Given the description of an element on the screen output the (x, y) to click on. 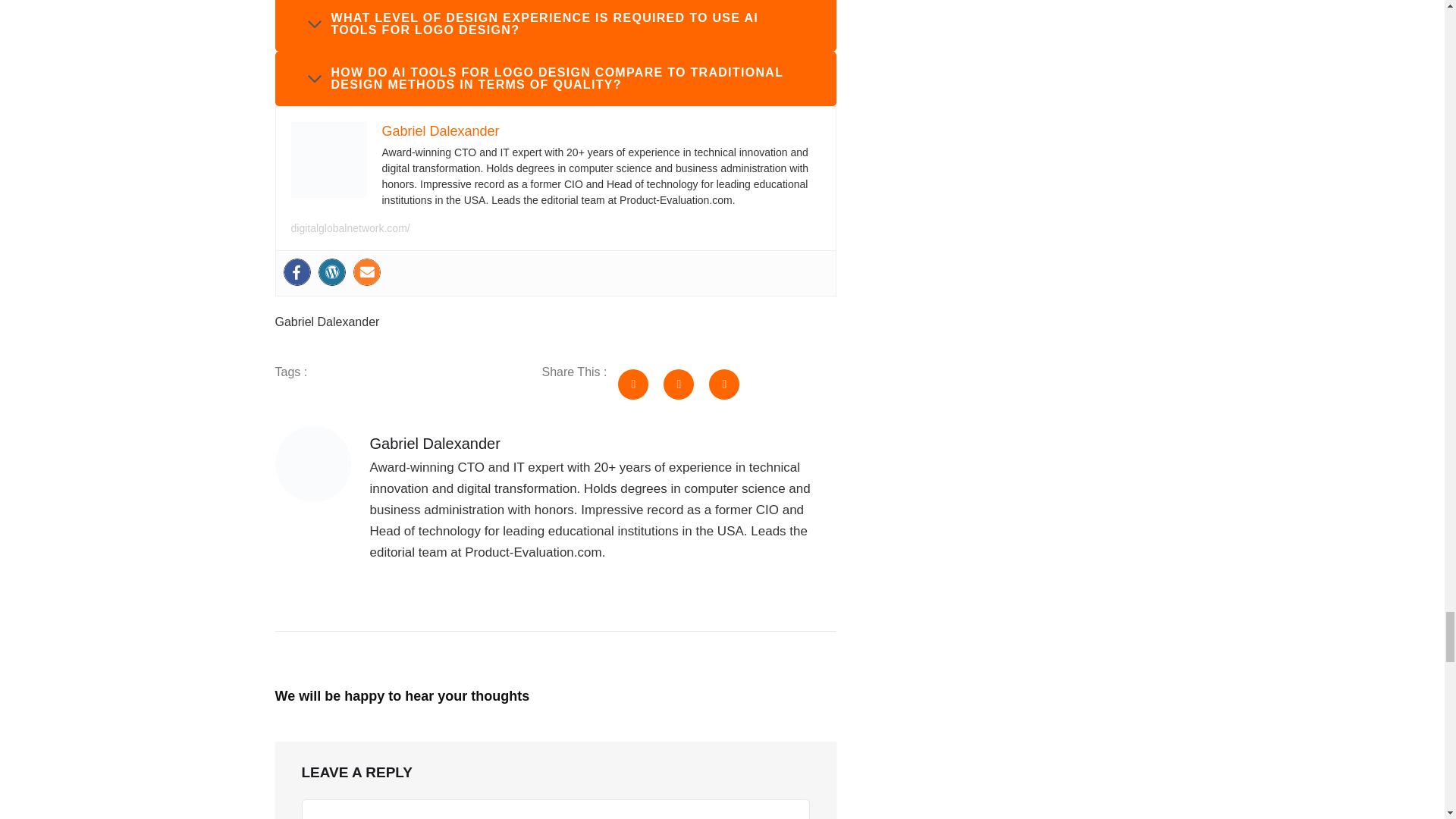
Facebook (297, 271)
Best Ai Tools For Image Generation (328, 160)
Wordpress (332, 271)
